Given the description of an element on the screen output the (x, y) to click on. 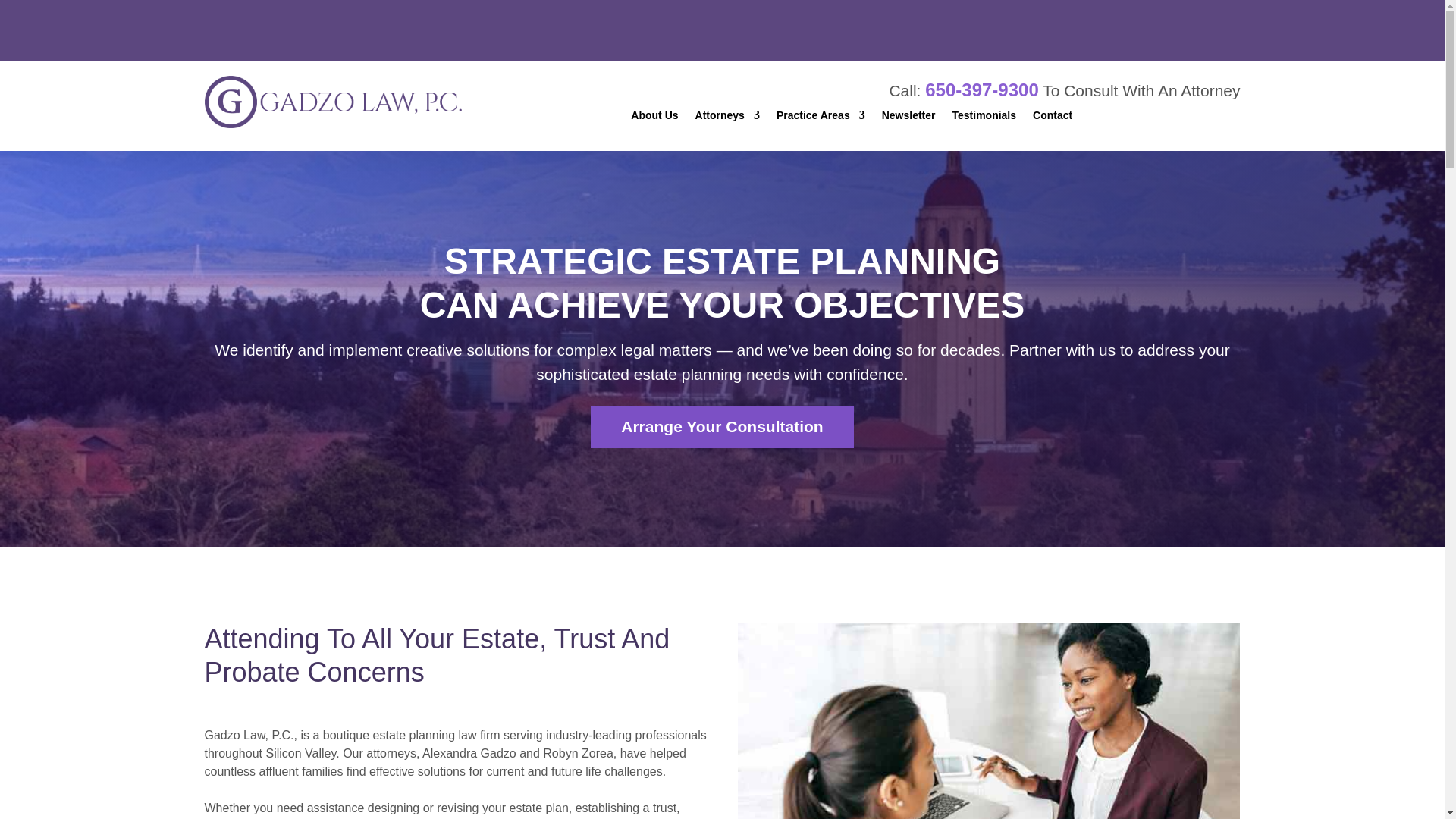
Contact (1051, 117)
Attorneys (727, 117)
Practice Areas (820, 117)
Testimonials (984, 117)
Newsletter (909, 117)
650-397-9300 (981, 89)
About Us (654, 117)
